Given the description of an element on the screen output the (x, y) to click on. 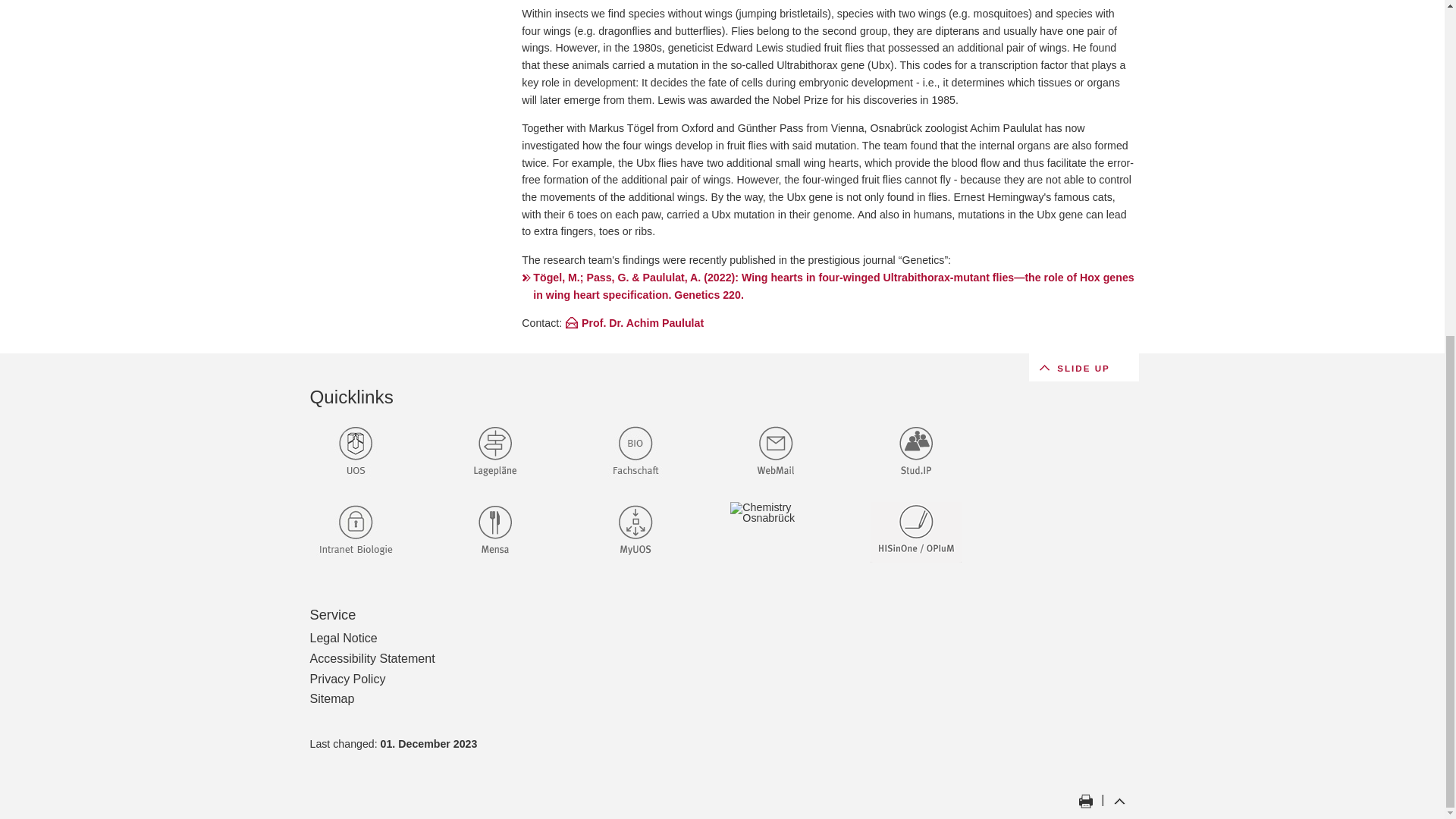
Site maps (494, 454)
E-Mail schreiben (633, 323)
Webmail (775, 454)
External Link - opens in new window (510, 533)
UOs home (354, 454)
External Link - opens in new window (510, 454)
Intranet Biology (354, 533)
Stud.IP (931, 454)
External Link - opens in new window (369, 533)
Student representation Biology (635, 454)
